Given the description of an element on the screen output the (x, y) to click on. 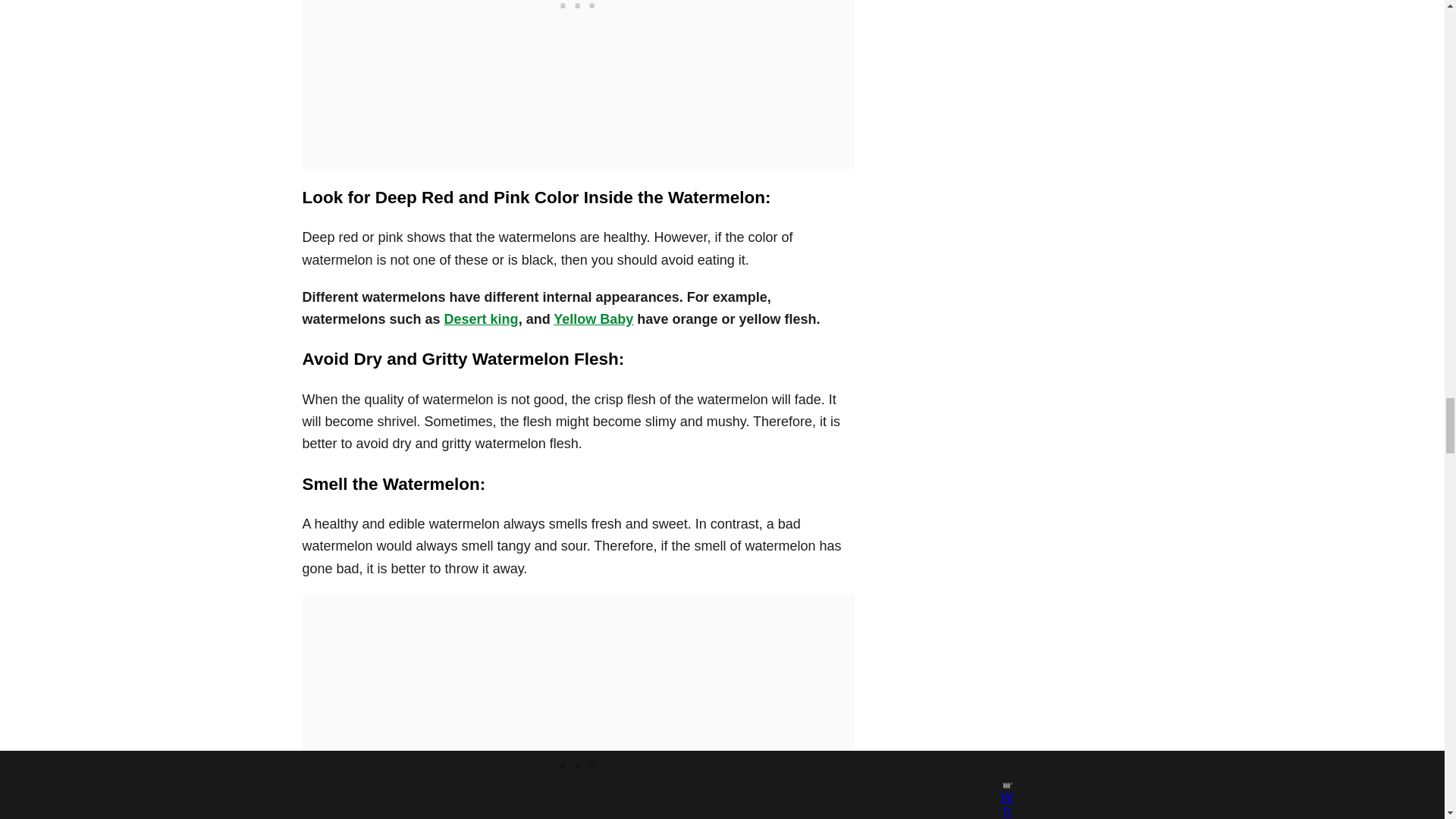
Desert king (481, 319)
Yellow Baby (593, 319)
